Given the description of an element on the screen output the (x, y) to click on. 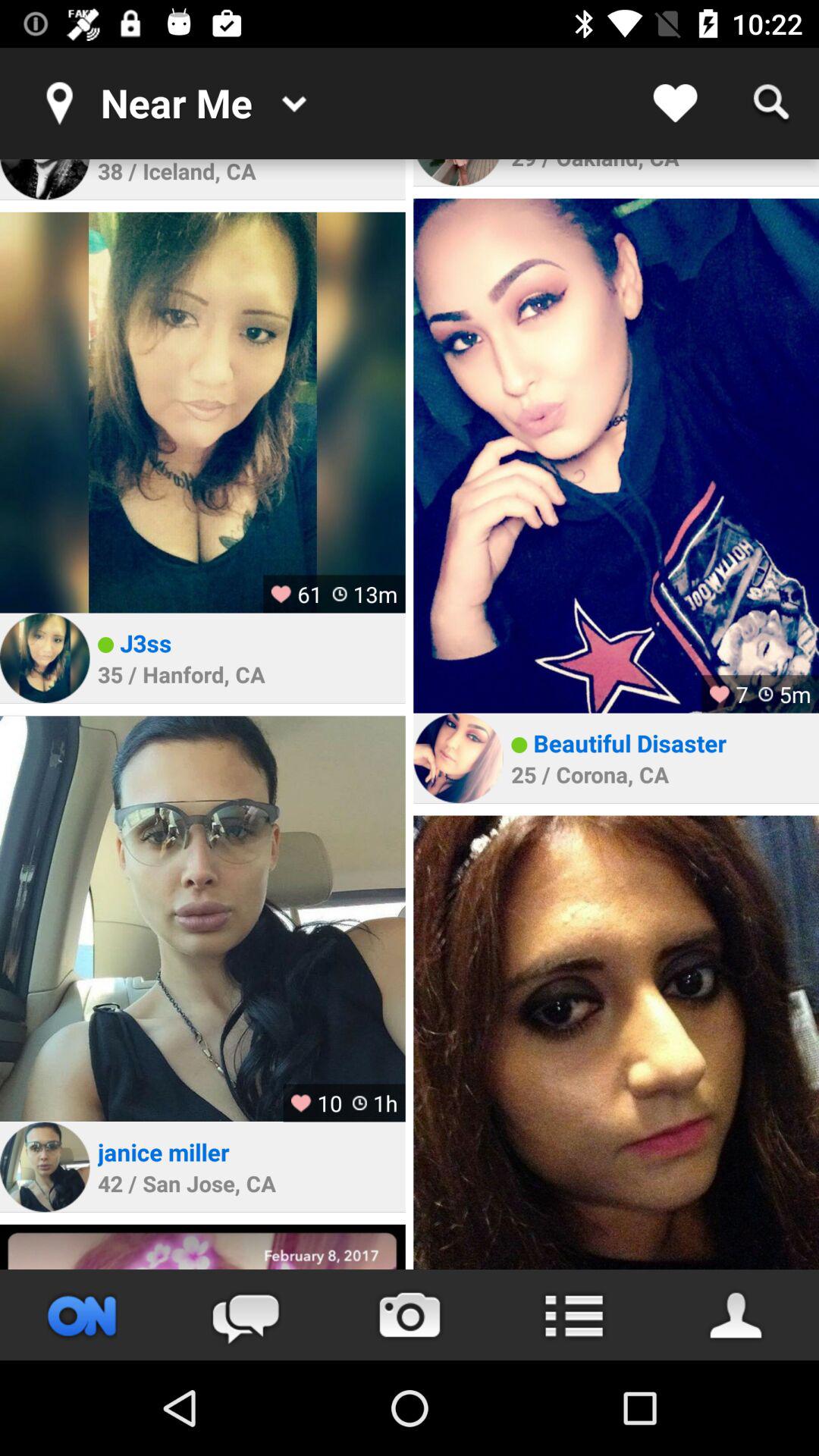
click the profile icon (737, 1315)
it is clickable click to see the option (573, 1315)
go to the green circle which is left to the text beautiful disaster (519, 744)
click on the text near me (237, 104)
